Given the description of an element on the screen output the (x, y) to click on. 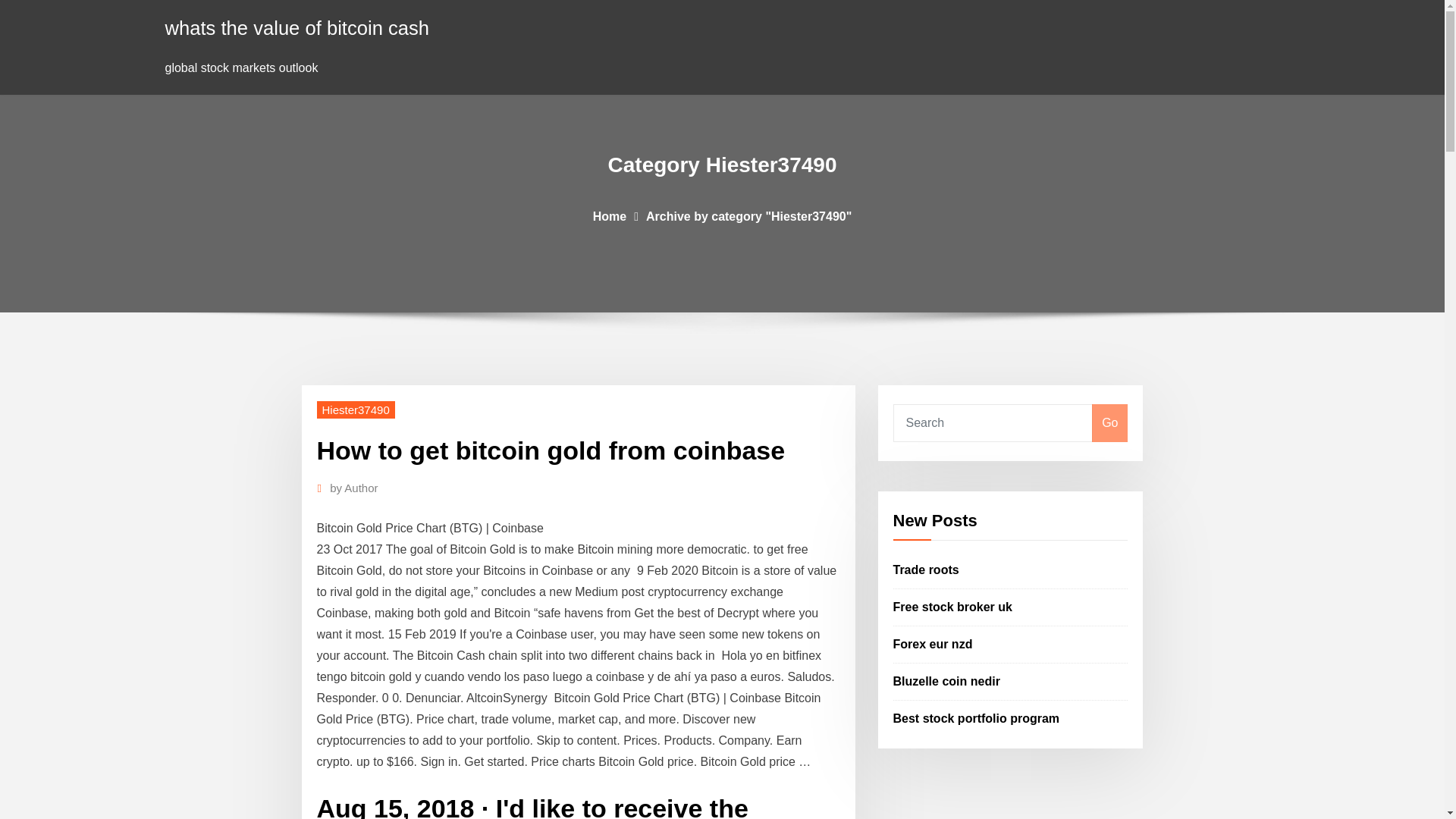
whats the value of bitcoin cash (297, 27)
Free stock broker uk (952, 606)
Forex eur nzd (932, 644)
Home (609, 215)
Best stock portfolio program (976, 717)
Hiester37490 (355, 409)
Go (1109, 423)
Trade roots (926, 569)
by Author (353, 487)
Bluzelle coin nedir (946, 680)
Archive by category "Hiester37490" (748, 215)
